Given the description of an element on the screen output the (x, y) to click on. 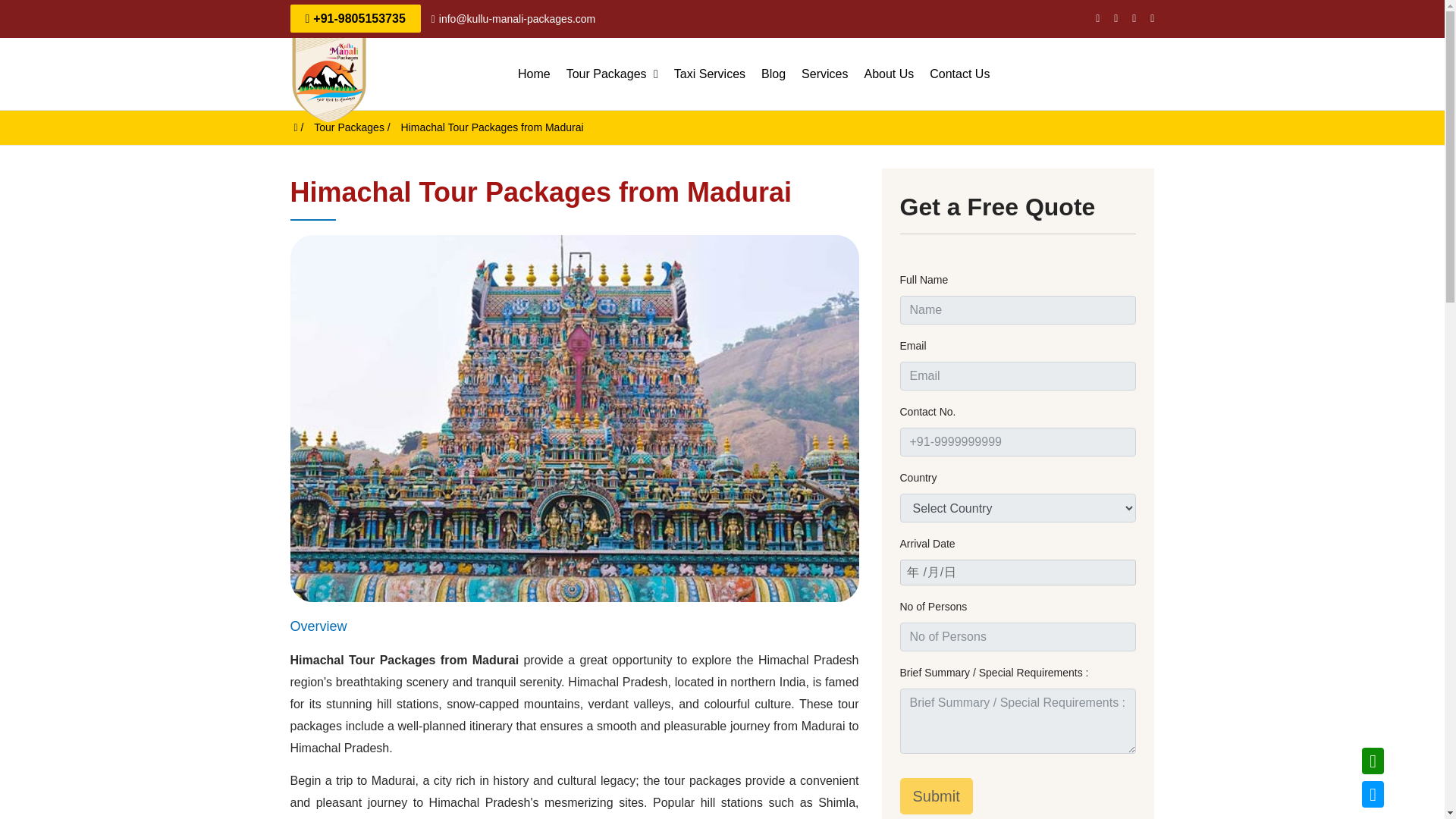
Tour Packages (611, 73)
Home (534, 73)
Submit (935, 796)
Tour Packages (349, 127)
About Us (888, 73)
Services (823, 73)
Contact Us (959, 73)
Blog (773, 73)
Taxi Services (709, 73)
